Given the description of an element on the screen output the (x, y) to click on. 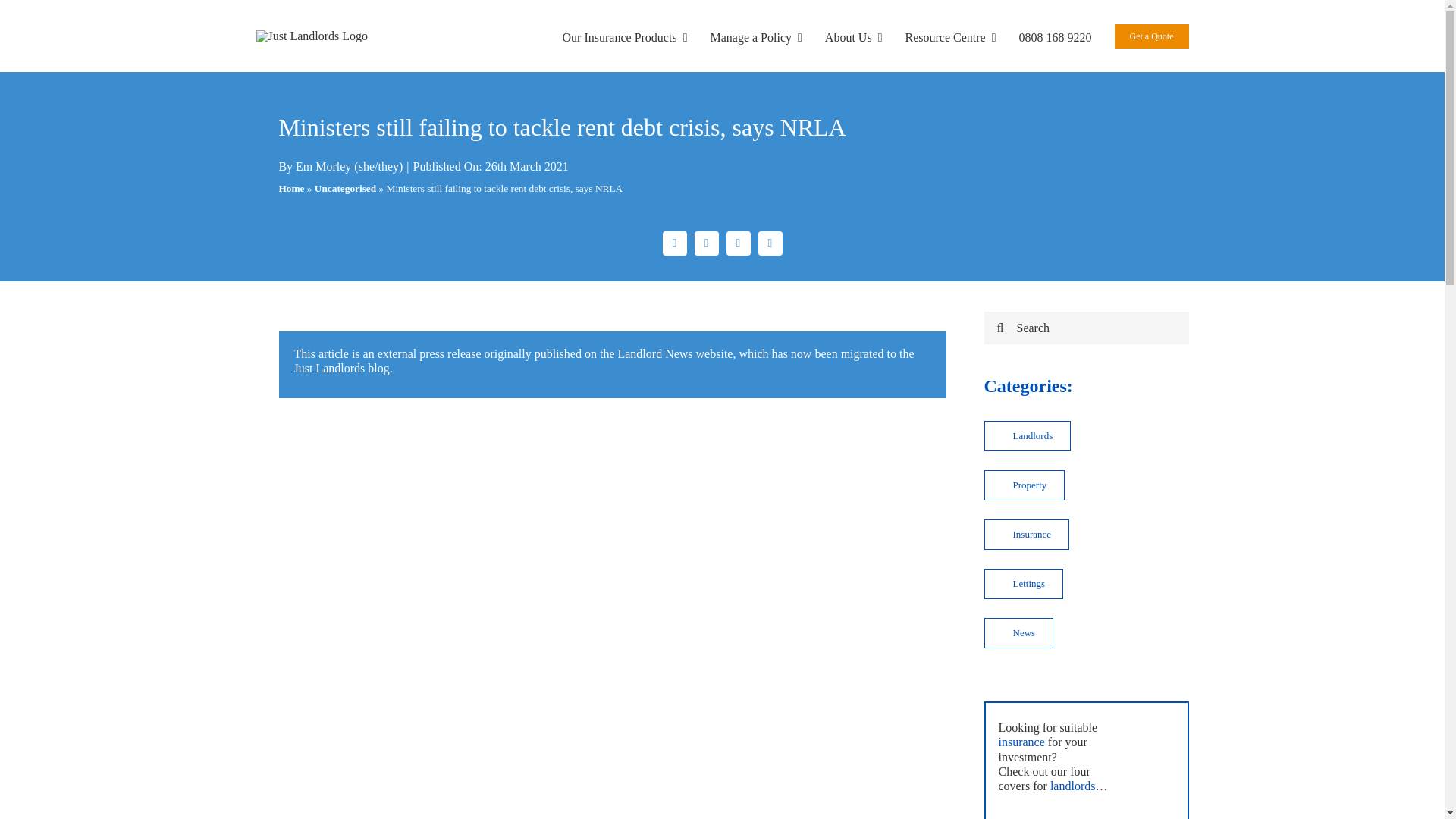
Manage a Policy (756, 36)
Manage a Policy (756, 36)
Products (624, 36)
Our Insurance Products (624, 36)
